Given the description of an element on the screen output the (x, y) to click on. 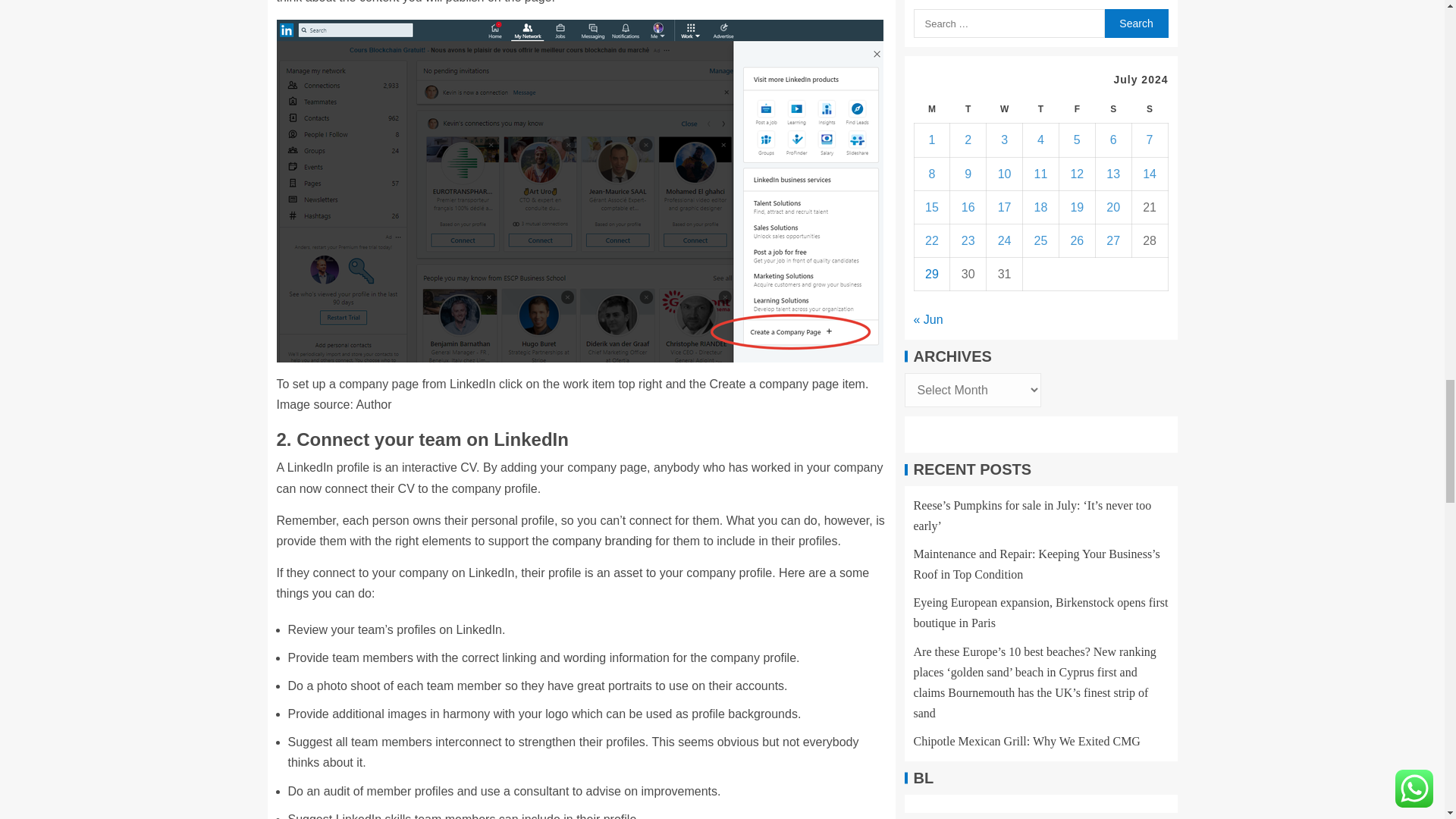
company branding (601, 540)
